Given the description of an element on the screen output the (x, y) to click on. 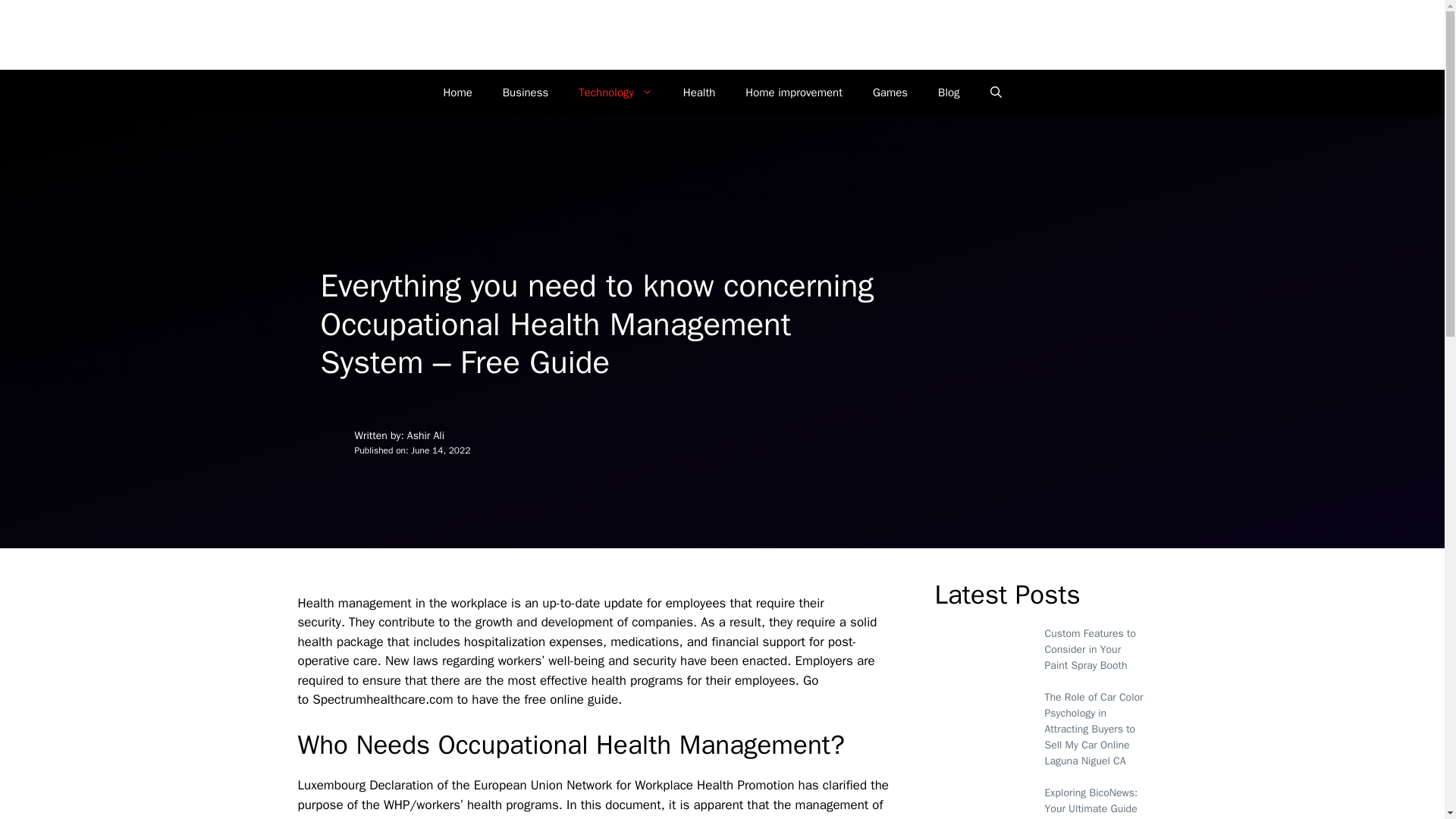
Technology (615, 92)
Home (457, 92)
Business (525, 92)
Games (890, 92)
Blog (948, 92)
Home improvement (793, 92)
Custom Features to Consider in Your Paint Spray Booth (1091, 649)
Health (699, 92)
